Given the description of an element on the screen output the (x, y) to click on. 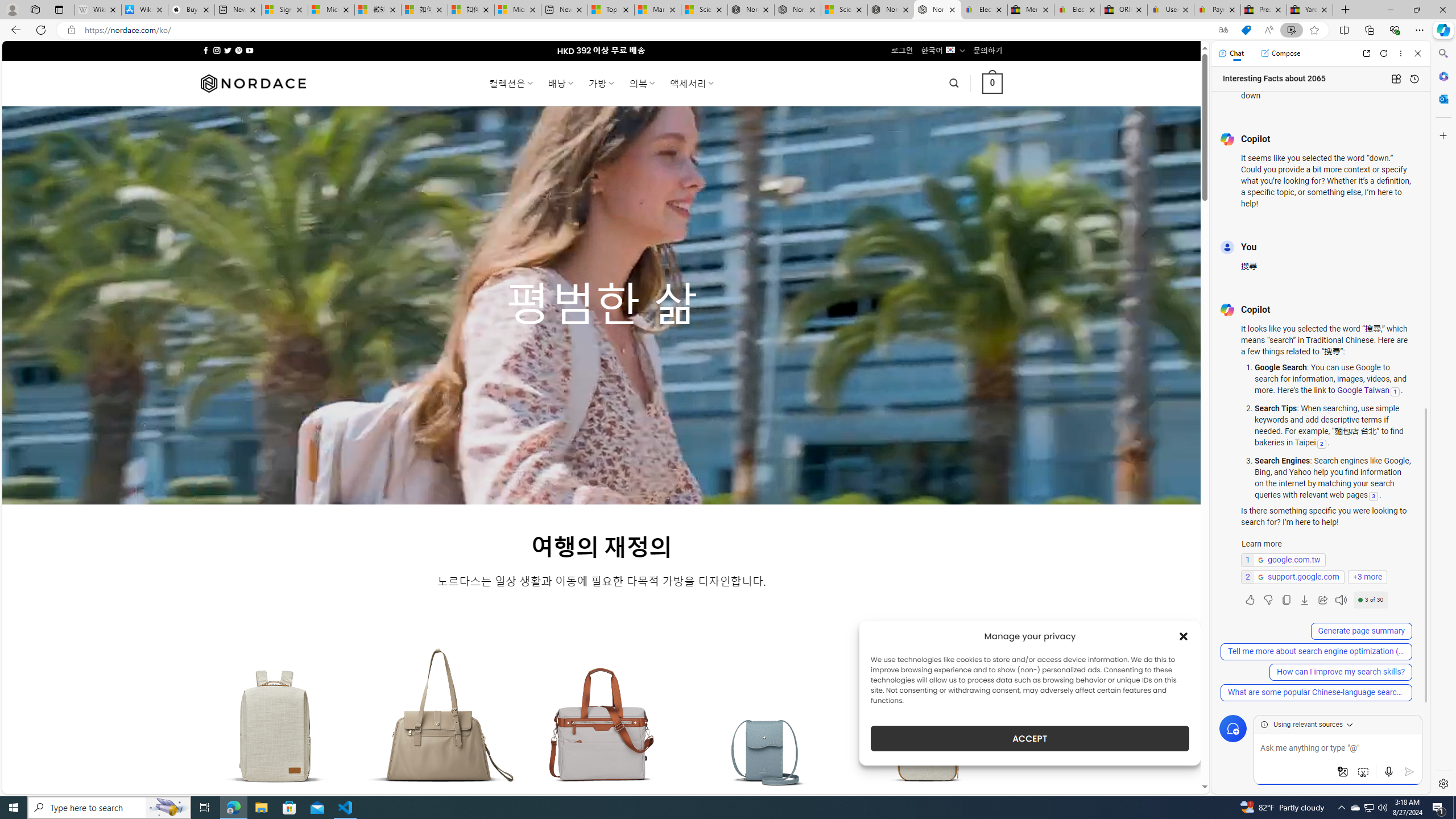
Chat (1231, 52)
Microsoft Services Agreement (330, 9)
Press Room - eBay Inc. (1263, 9)
 0  (992, 83)
User Privacy Notice | eBay (1170, 9)
